Given the description of an element on the screen output the (x, y) to click on. 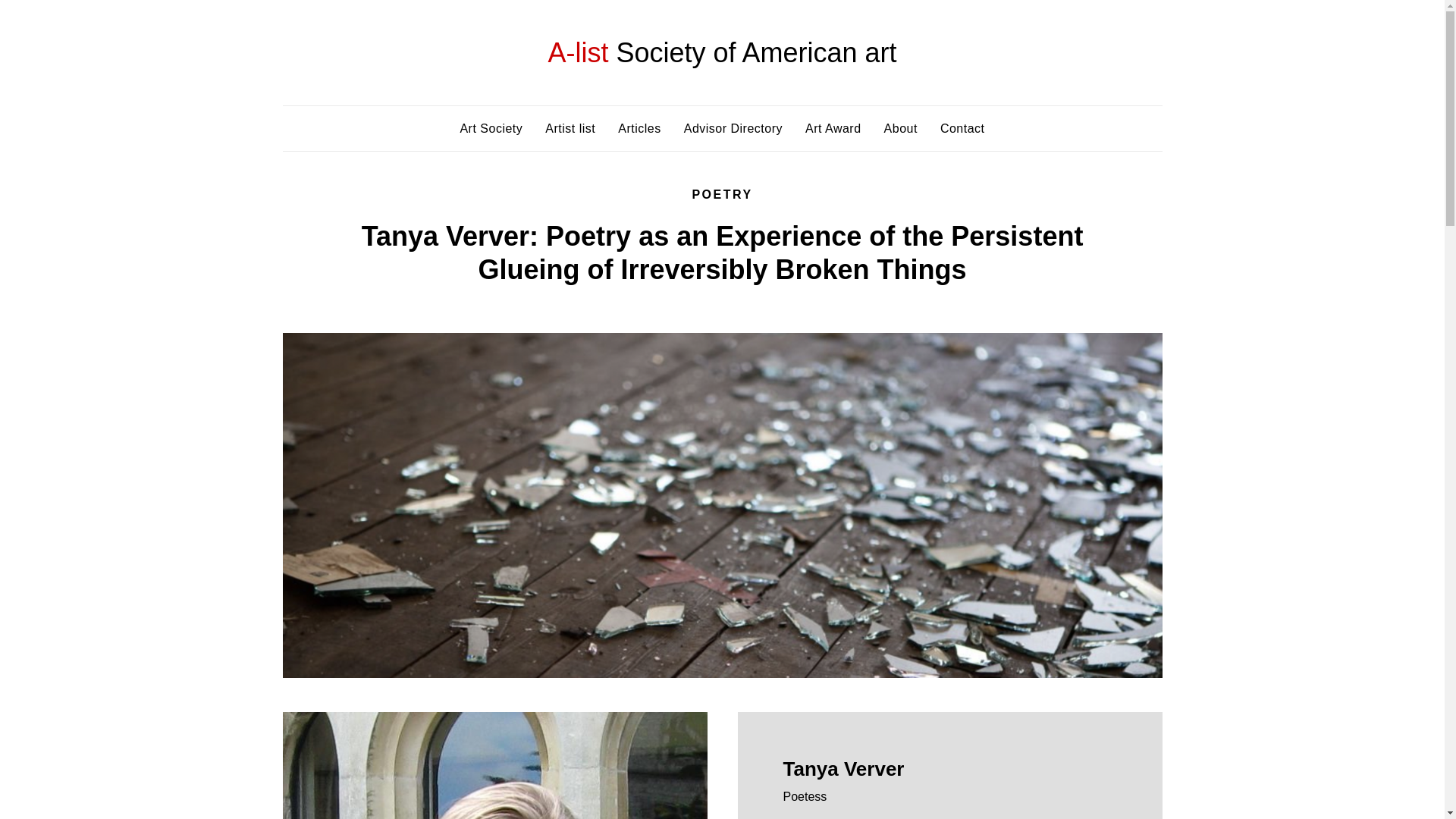
Artist list (569, 128)
Contact (962, 128)
Advisor Directory (733, 128)
About (900, 128)
Art Society (491, 128)
Articles (639, 128)
Art Award (833, 128)
